Given the description of an element on the screen output the (x, y) to click on. 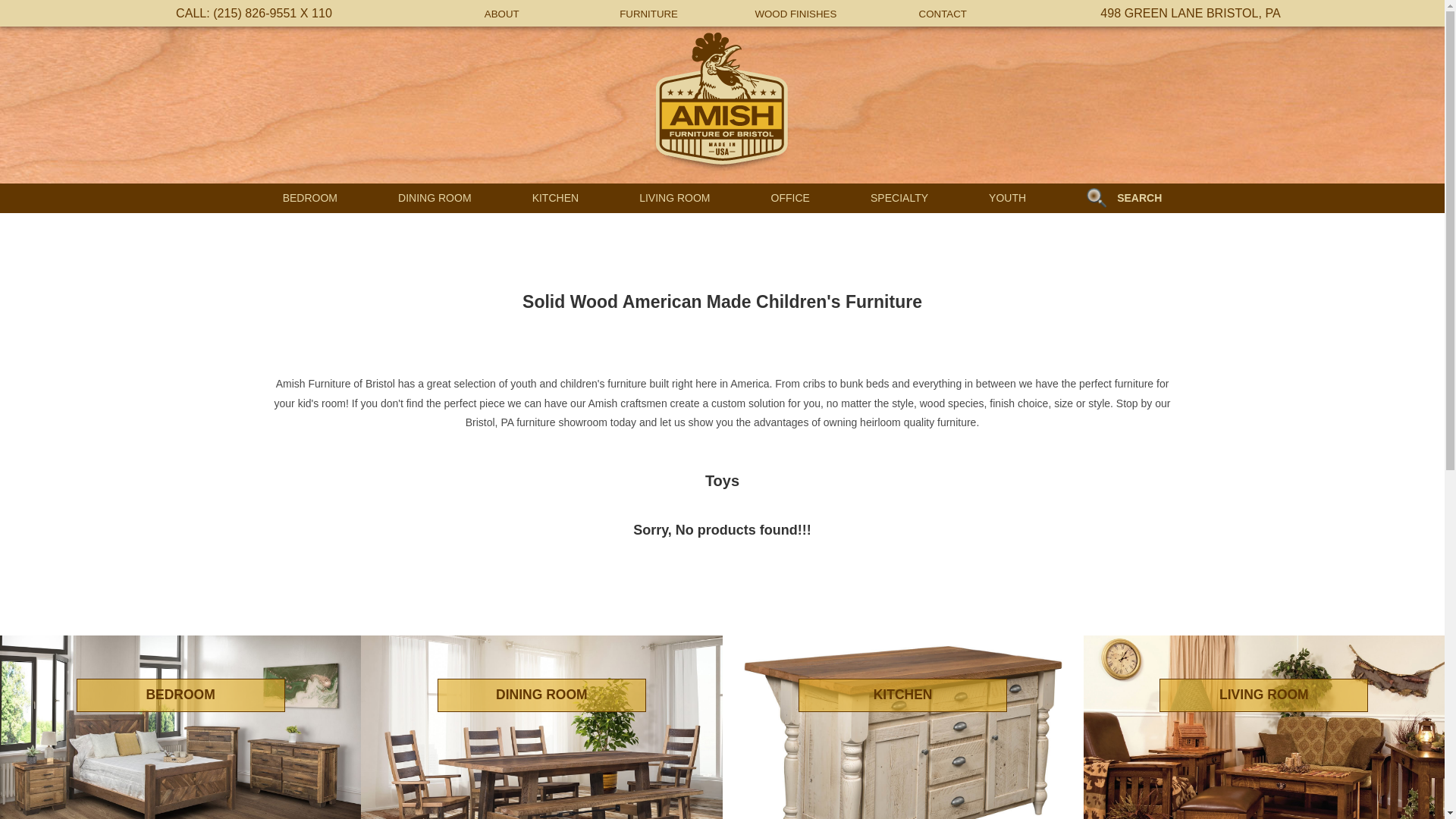
498 GREEN LANE BRISTOL, PA (1189, 12)
BEDROOM (309, 197)
CONTACT (942, 13)
OFFICE (790, 197)
LIVING ROOM (1263, 727)
LIVING ROOM (674, 197)
KITCHEN (902, 727)
DINING ROOM (433, 197)
FURNITURE (649, 13)
BEDROOM (180, 727)
DINING ROOM (541, 727)
YOUTH (1007, 197)
SPECIALTY (899, 197)
WOOD FINISHES (794, 13)
ABOUT (501, 13)
